Given the description of an element on the screen output the (x, y) to click on. 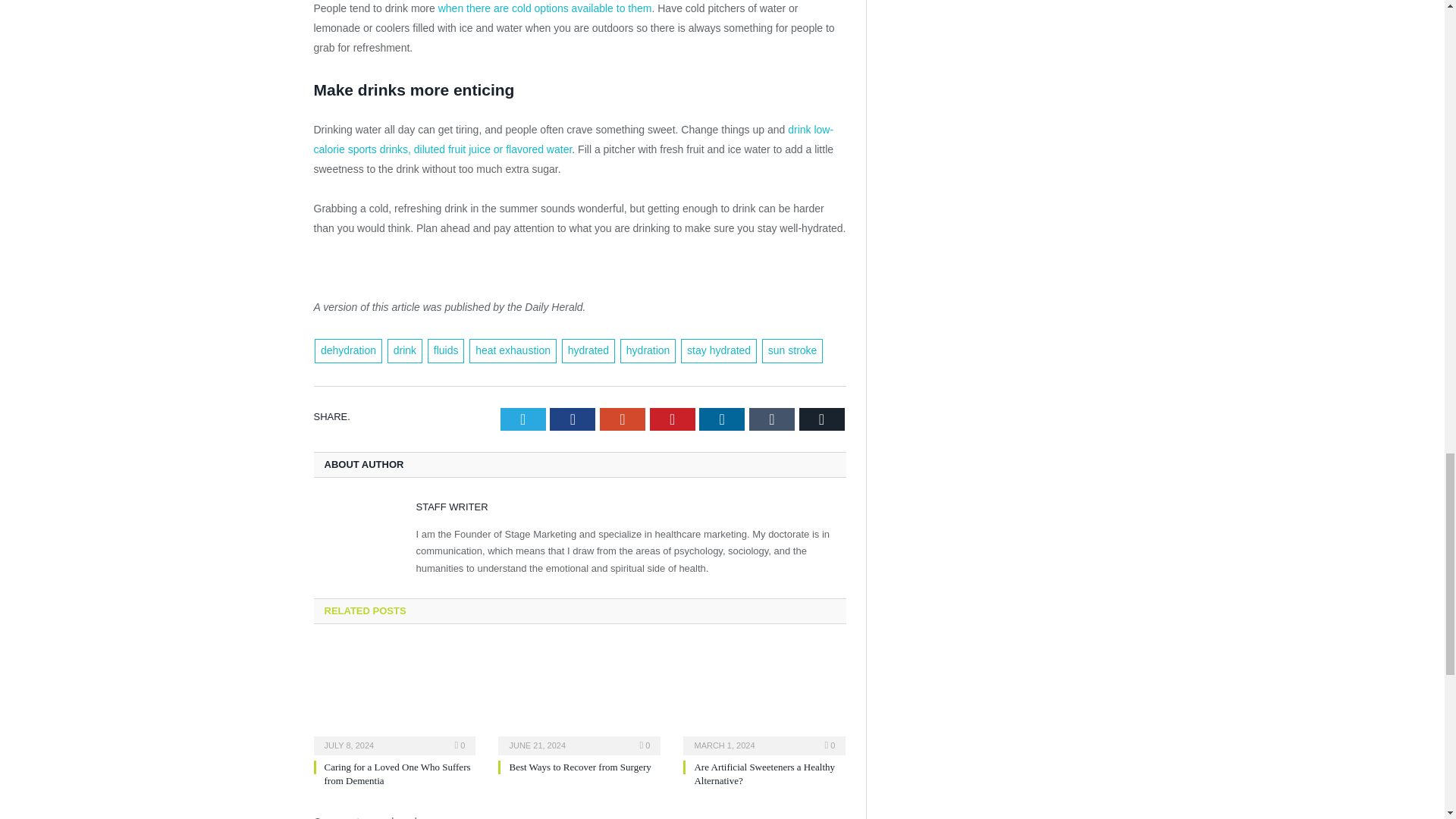
Caring for a Loved One Who Suffers from Dementia (397, 773)
Caring for a Loved One Who Suffers from Dementia (395, 698)
Posts by Staff Writer (450, 506)
